Given the description of an element on the screen output the (x, y) to click on. 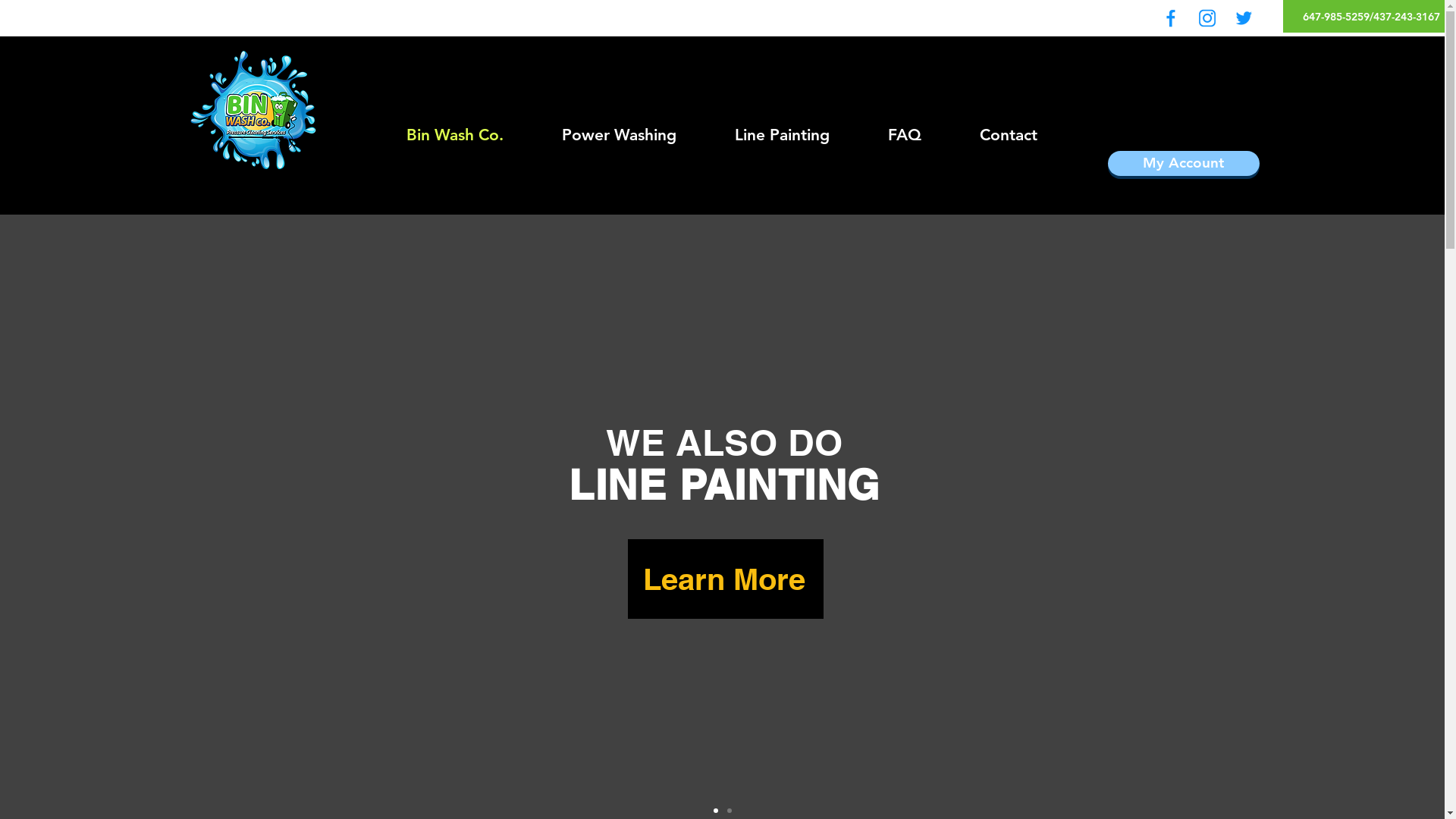
Contact Element type: text (1008, 134)
Bin Wash Co. Element type: text (455, 134)
Book Now Element type: text (721, 621)
Line Painting Element type: text (781, 134)
FAQ Element type: text (904, 134)
Power Washing Element type: text (618, 134)
My Account Element type: text (1182, 162)
